Given the description of an element on the screen output the (x, y) to click on. 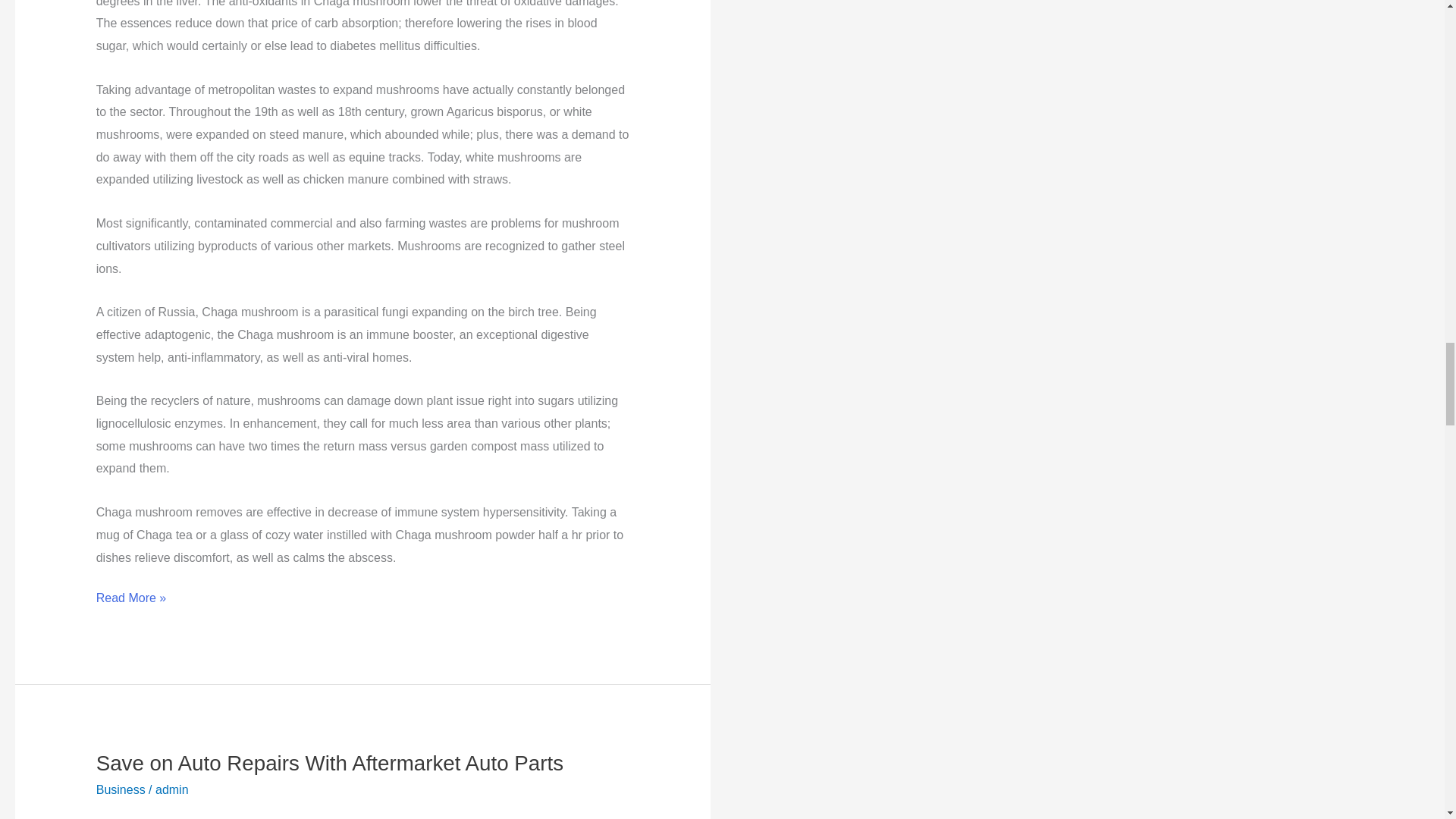
Business (120, 789)
admin (172, 789)
View all posts by admin (172, 789)
Save on Auto Repairs With Aftermarket Auto Parts (329, 762)
